Given the description of an element on the screen output the (x, y) to click on. 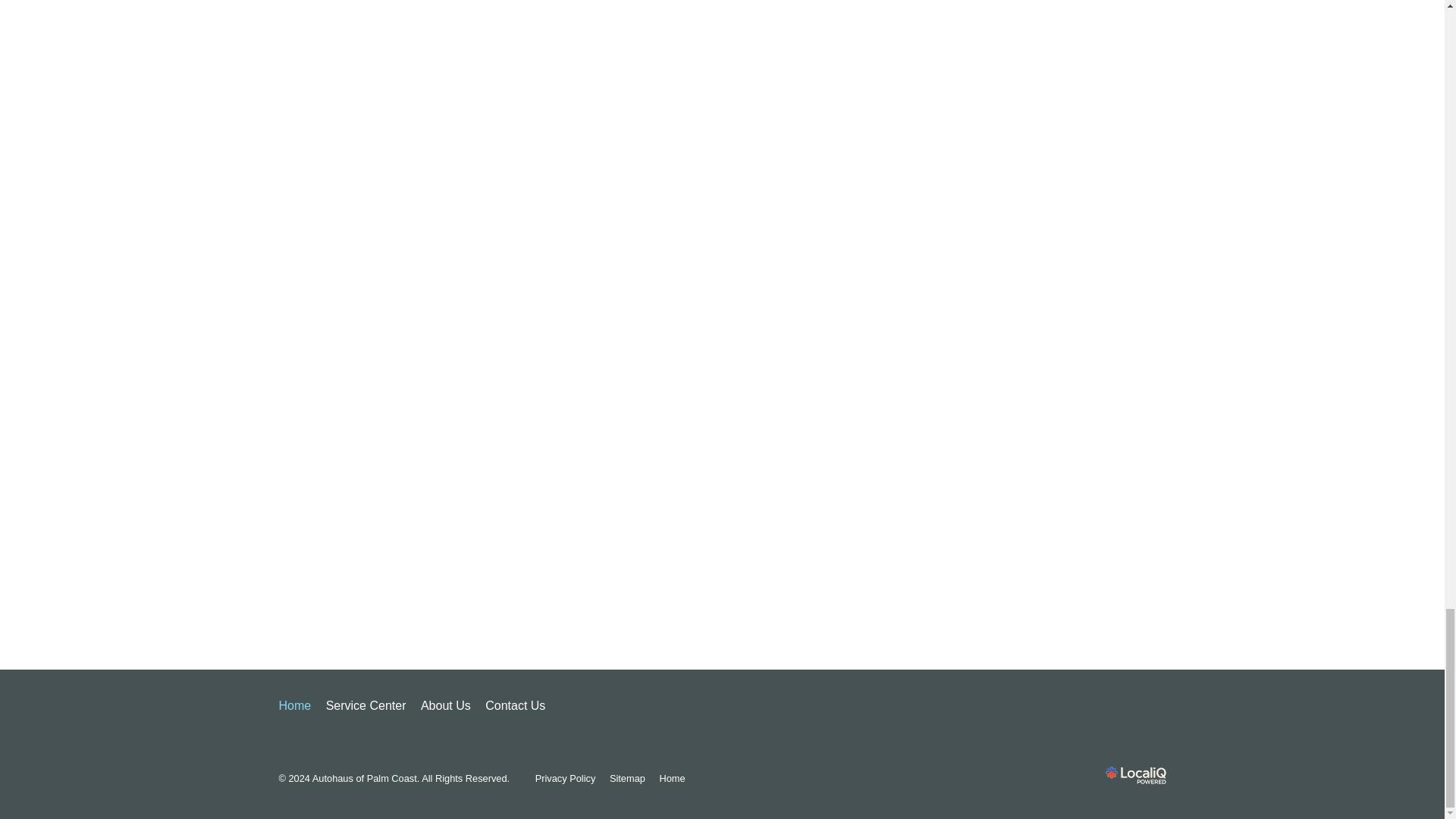
Submit (722, 591)
Service Center (366, 706)
Home (295, 706)
